Given the description of an element on the screen output the (x, y) to click on. 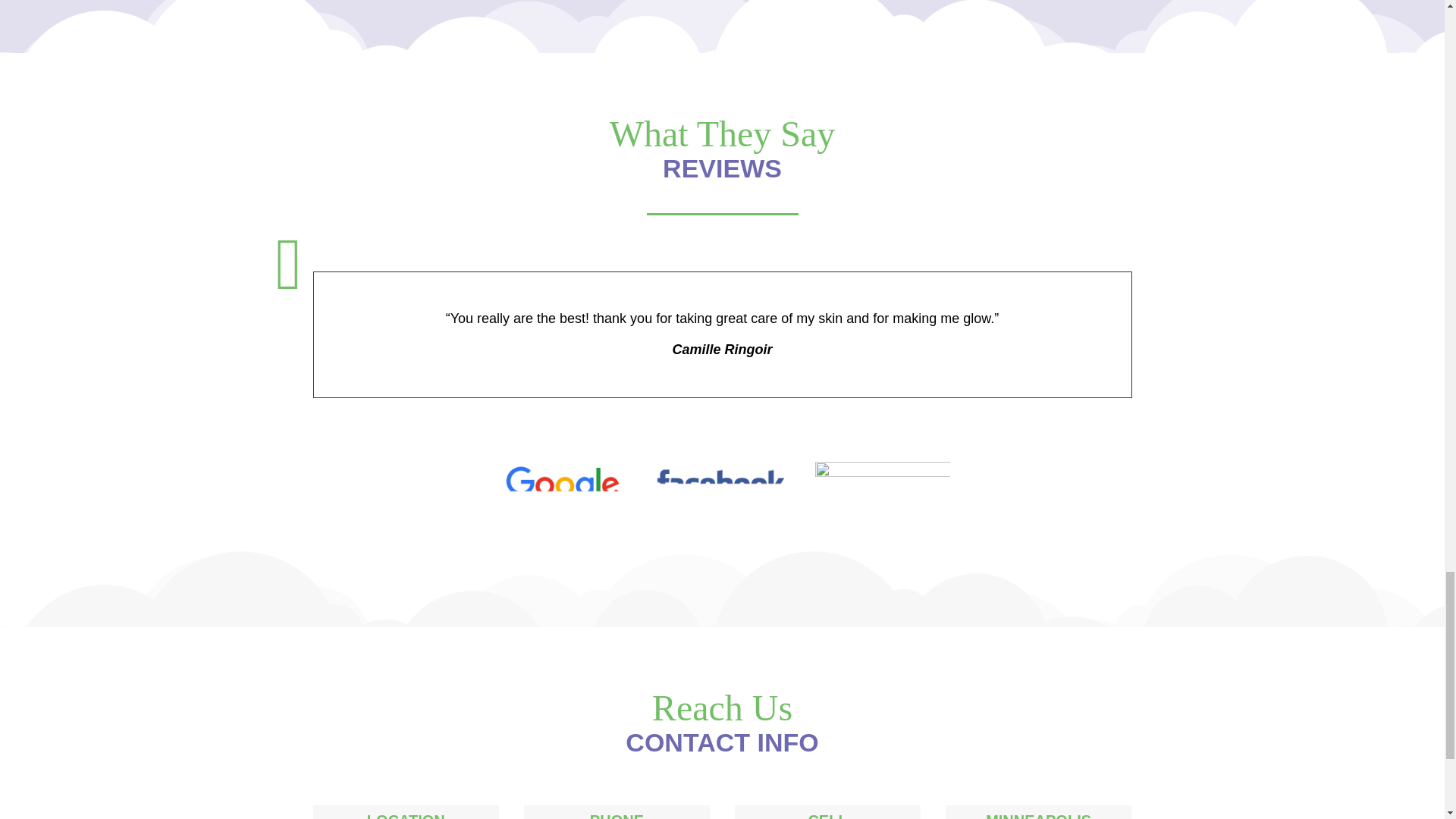
yelp-logo (881, 494)
google-review (561, 491)
facebook-reviews (722, 491)
